Given the description of an element on the screen output the (x, y) to click on. 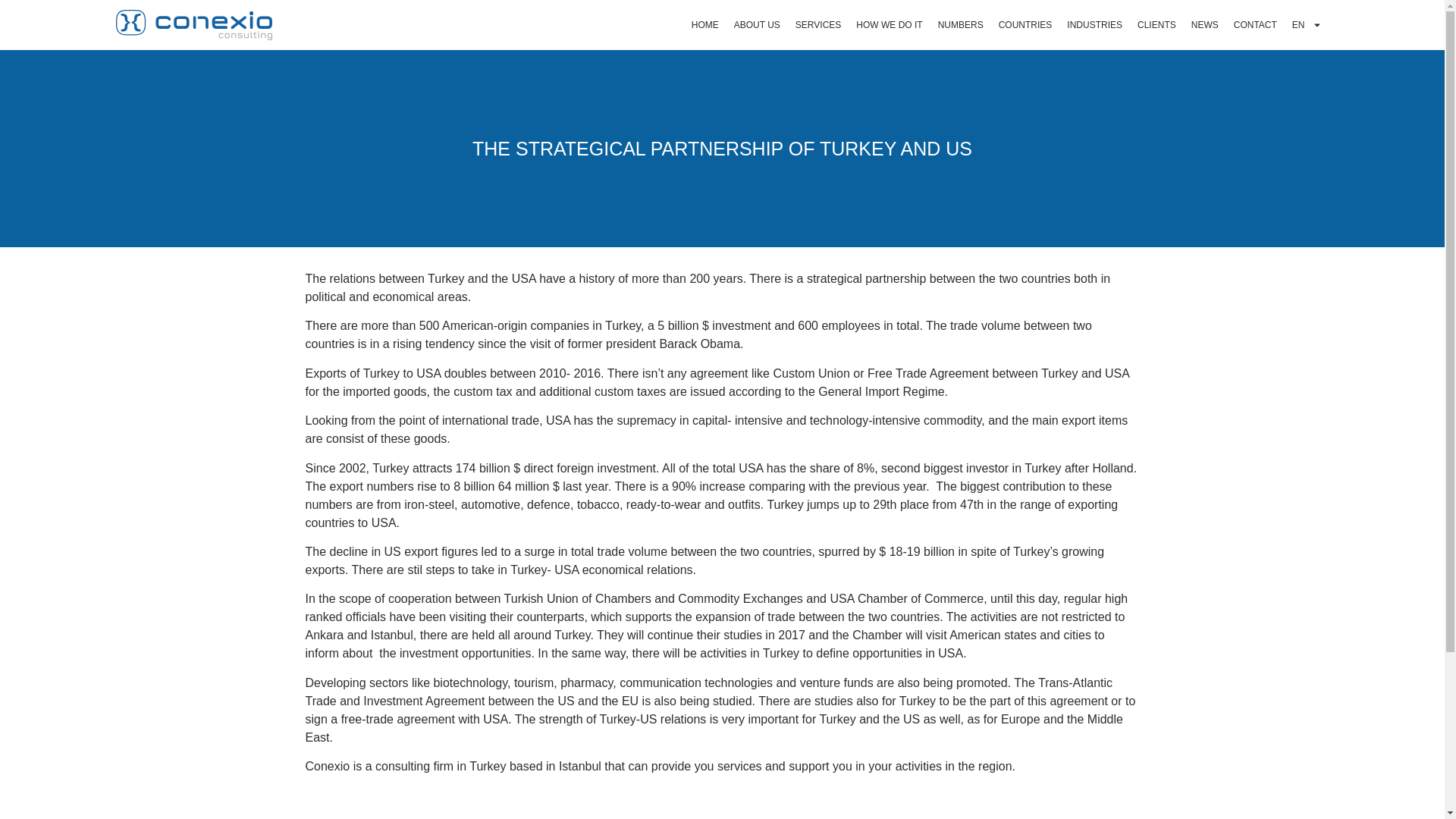
NUMBERS (960, 24)
COUNTRIES (1025, 24)
EN (1306, 24)
ABOUT US (756, 24)
HOME (705, 24)
CONTACT (1254, 24)
NEWS (1204, 24)
SERVICES (817, 24)
EN (1306, 24)
CLIENTS (1156, 24)
